Given the description of an element on the screen output the (x, y) to click on. 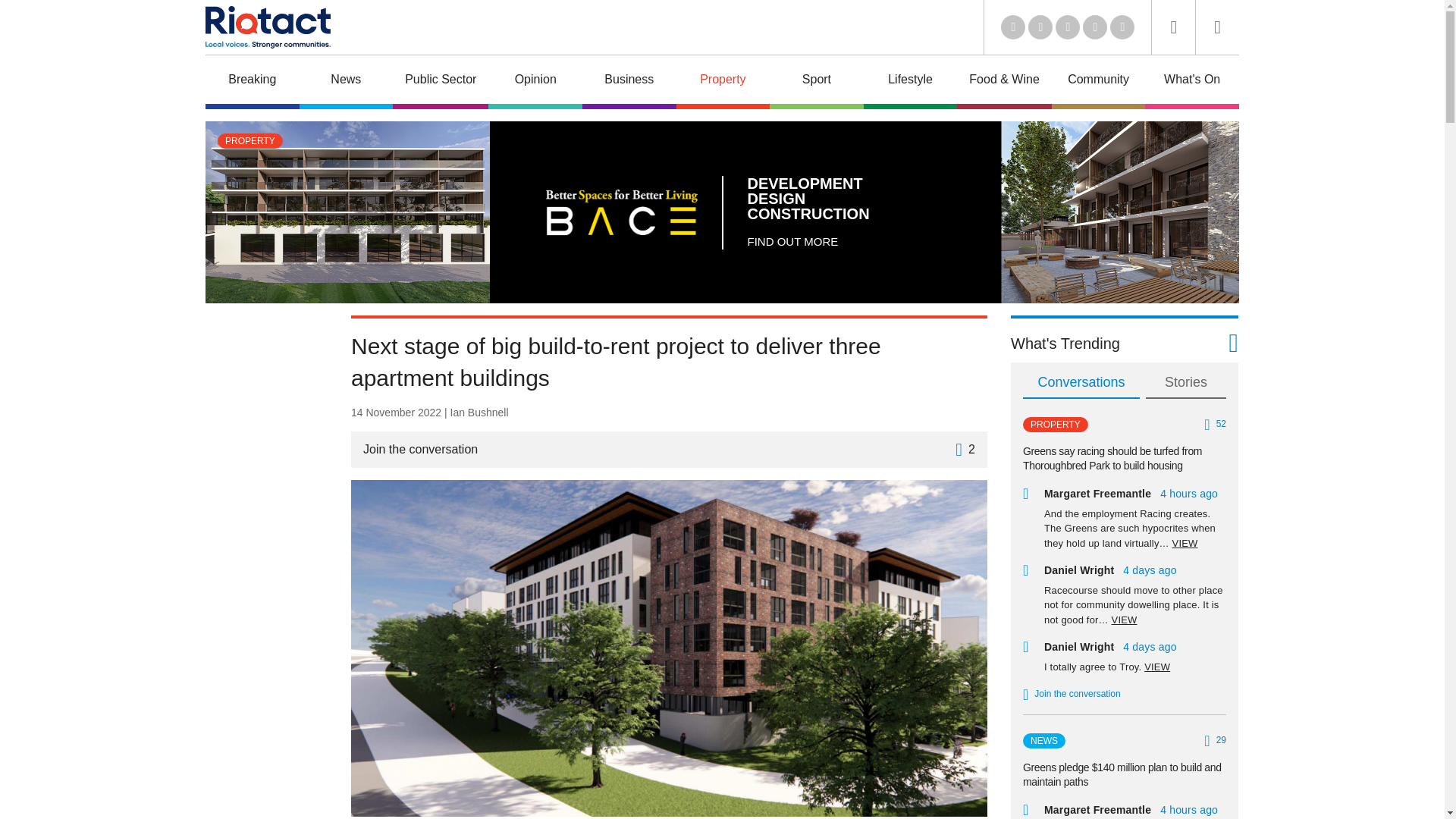
Instagram (1121, 27)
Twitter (1039, 27)
News (346, 81)
LinkedIn (1013, 27)
Riotact Home (267, 26)
Breaking (252, 81)
Youtube (1067, 27)
Facebook (1094, 27)
